Given the description of an element on the screen output the (x, y) to click on. 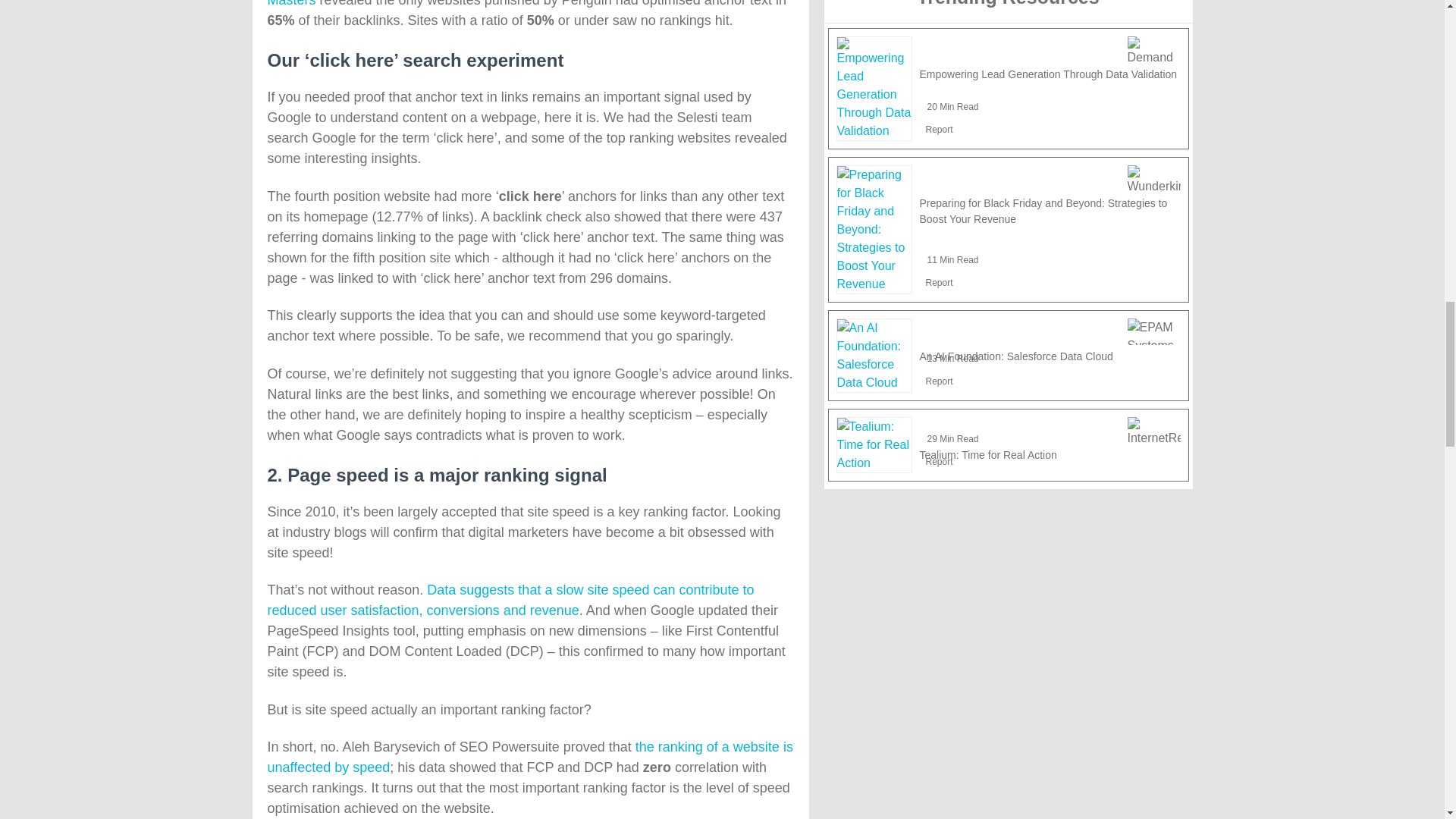
Link to An AI Foundation: Salesforce Data Cloud (873, 355)
View Empowering Lead Generation Through Data Validation (1047, 73)
the ranking of a website is unaffected by speed (529, 756)
Link to Tealium: Time for Real Action (873, 444)
View Tealium: Time for Real Action (987, 454)
View An AI Foundation: Salesforce Data Cloud (1015, 356)
